Given the description of an element on the screen output the (x, y) to click on. 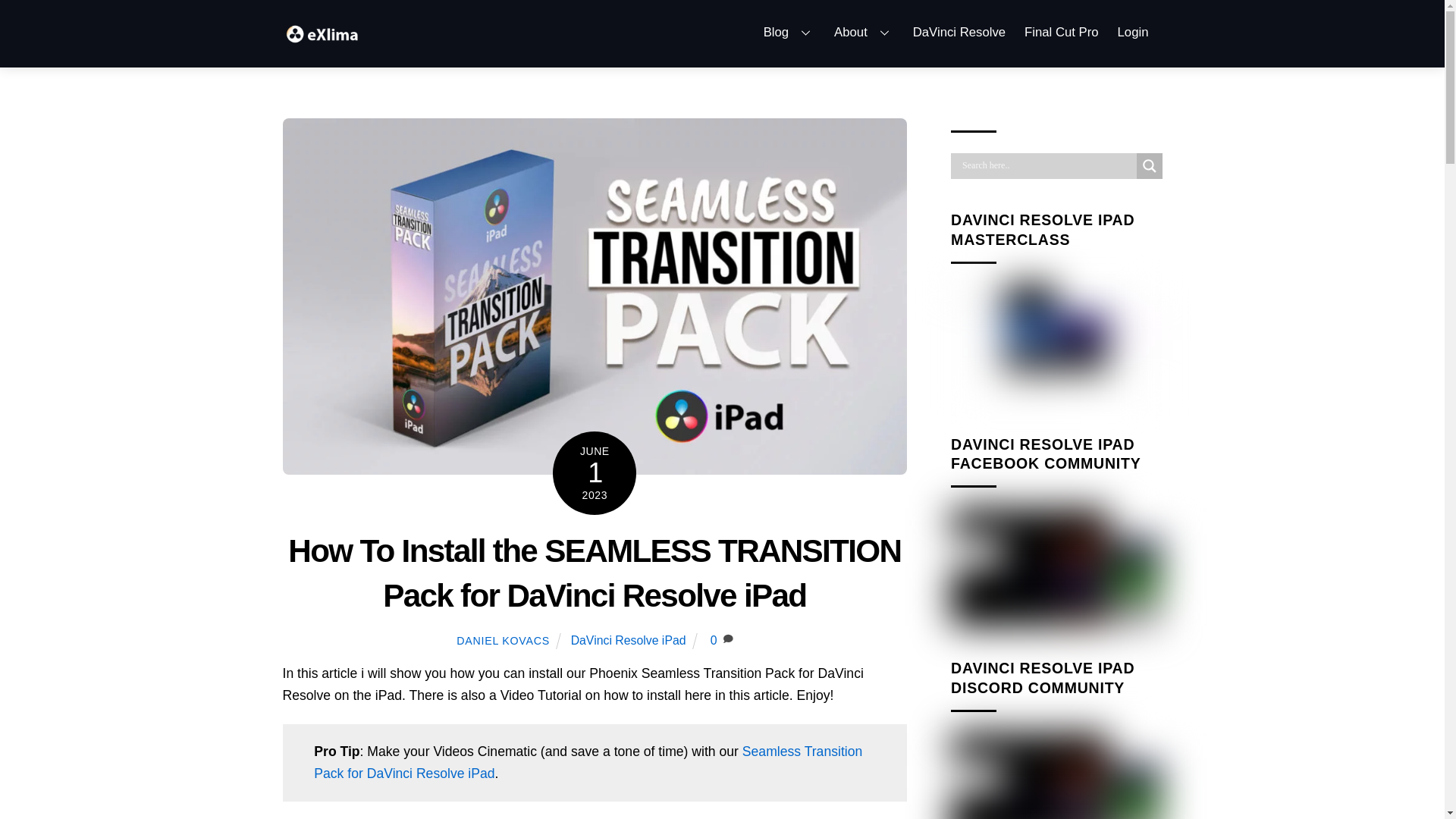
About (864, 31)
Final Cut Pro (1061, 31)
DaVinci Resolve iPad (627, 640)
Blog (721, 31)
DaVinci Resolve (789, 31)
eXlima (959, 31)
Login (323, 39)
DANIEL KOVACS (1132, 31)
